Given the description of an element on the screen output the (x, y) to click on. 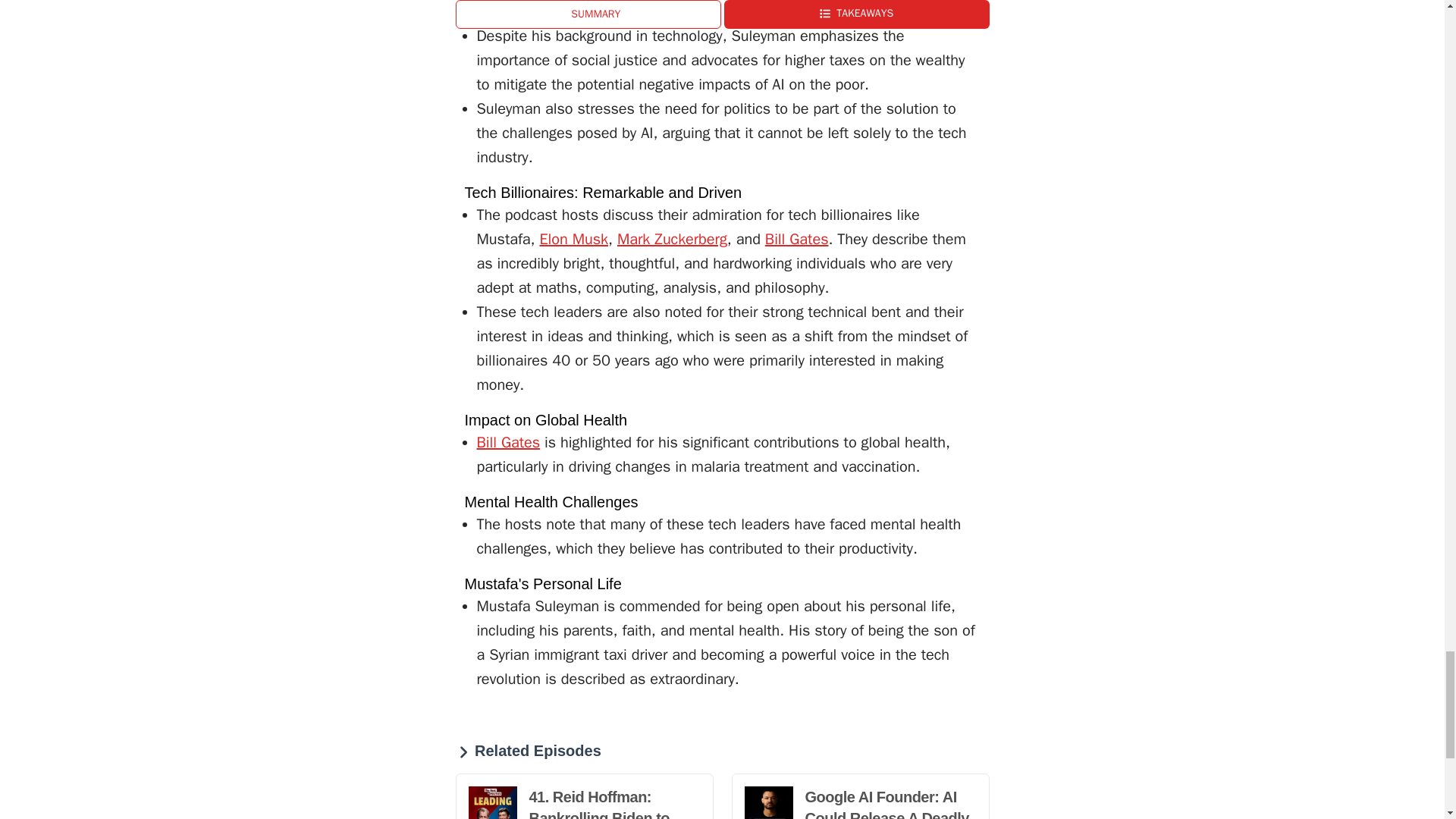
Bill Gates (508, 442)
Mark Zuckerberg (671, 239)
Bill Gates (796, 239)
Elon Musk (573, 239)
